Given the description of an element on the screen output the (x, y) to click on. 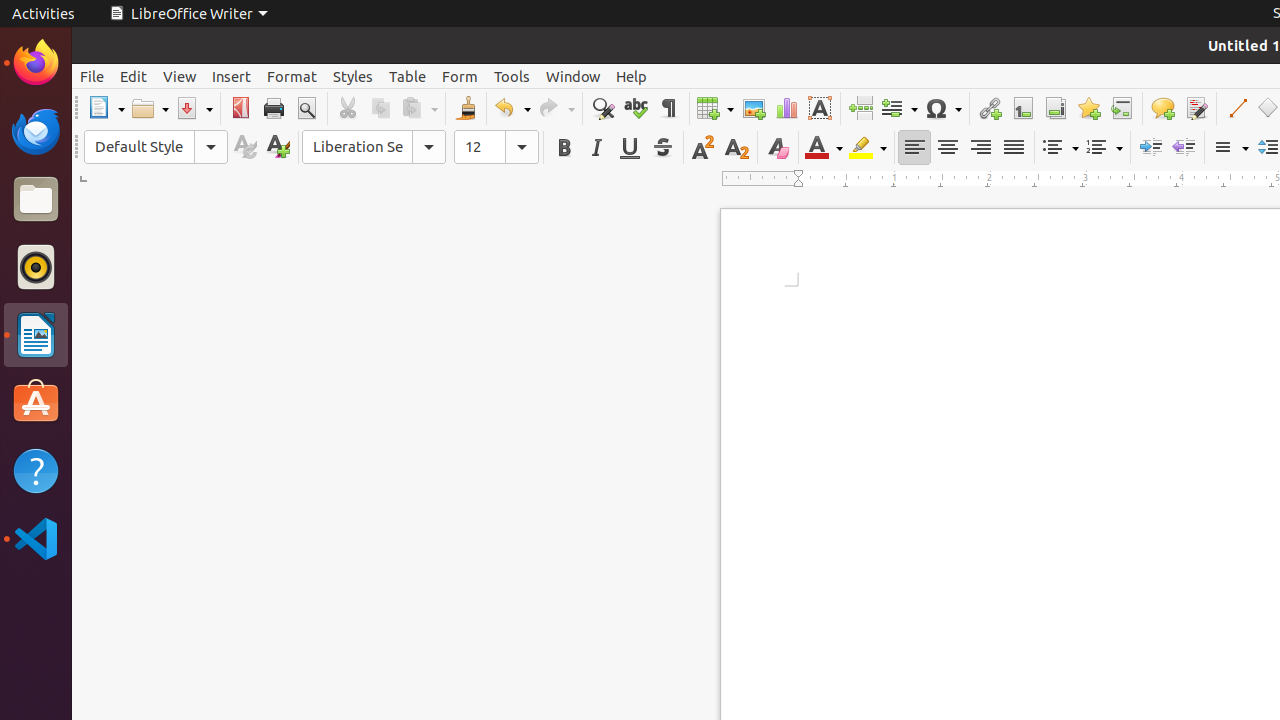
Bookmark Element type: push-button (1088, 108)
Clear Element type: push-button (777, 147)
Table Element type: push-button (715, 108)
Numbering Element type: push-button (1104, 147)
Left Element type: toggle-button (914, 147)
